Given the description of an element on the screen output the (x, y) to click on. 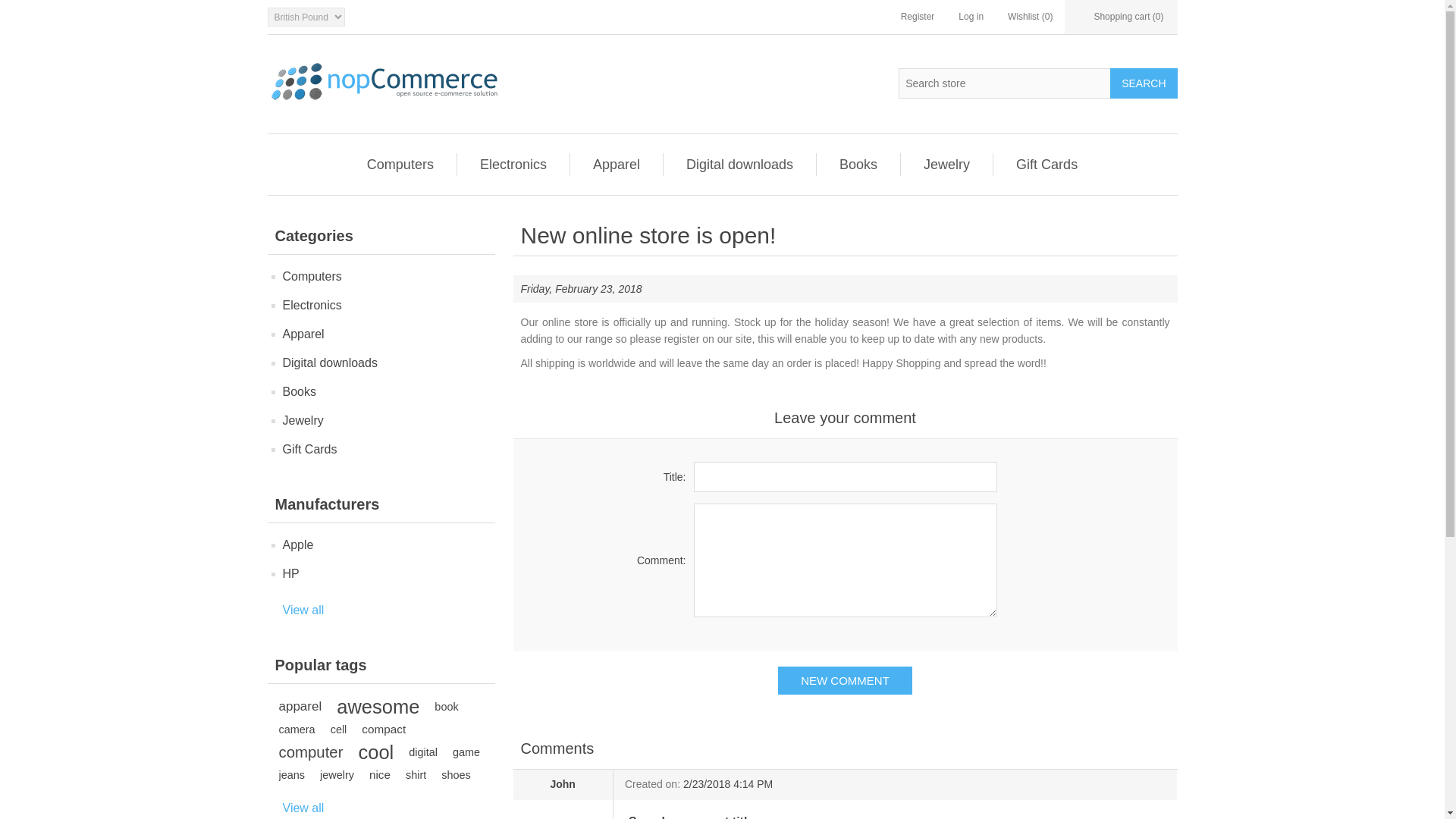
Computers (311, 276)
Books (858, 164)
Computers (400, 164)
Electronics (512, 164)
Search (1142, 82)
Search (1142, 82)
Search (1142, 82)
Electronics (311, 305)
Gift Cards (1046, 164)
New comment (844, 680)
Digital downloads (739, 164)
Apparel (616, 164)
Register (917, 17)
Jewelry (945, 164)
